Given the description of an element on the screen output the (x, y) to click on. 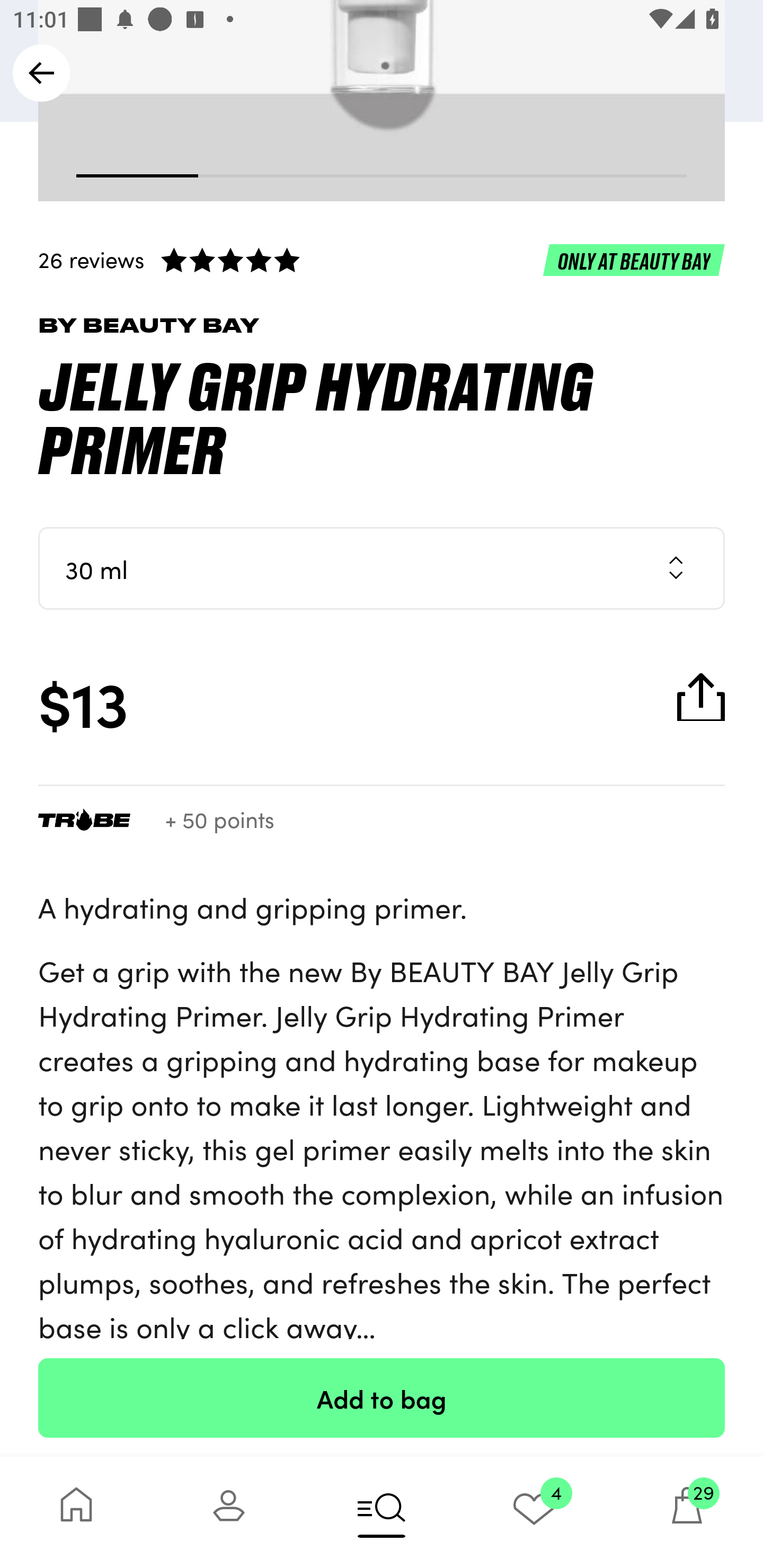
26 reviews (381, 259)
30 ml  (381, 567)
Add to bag (381, 1397)
4 (533, 1512)
29 (686, 1512)
